Given the description of an element on the screen output the (x, y) to click on. 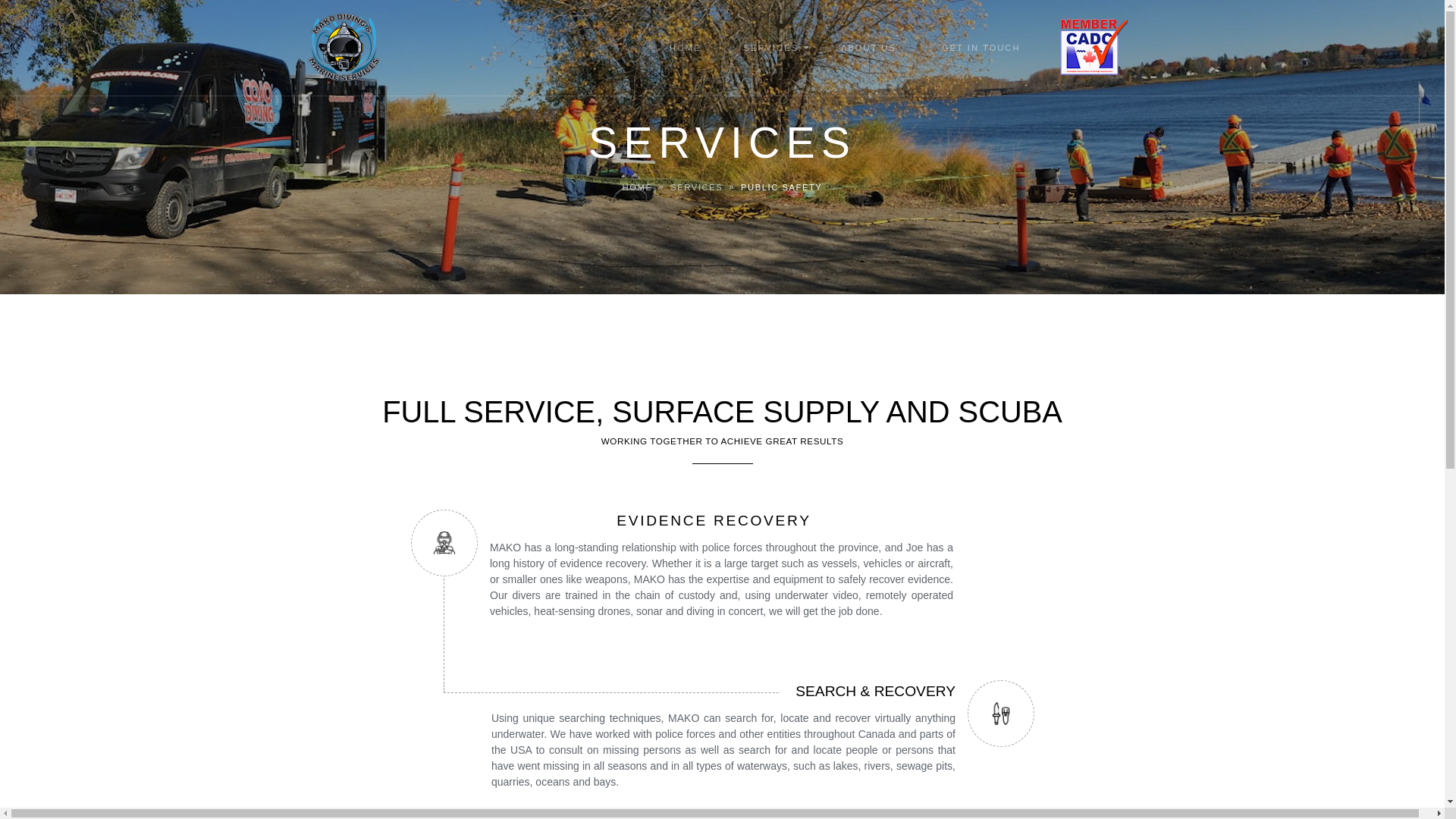
HOME (637, 186)
GET IN TOUCH (980, 48)
HOME (684, 48)
ABOUT US (868, 48)
SERVICES (770, 48)
SERVICES (695, 186)
